Given the description of an element on the screen output the (x, y) to click on. 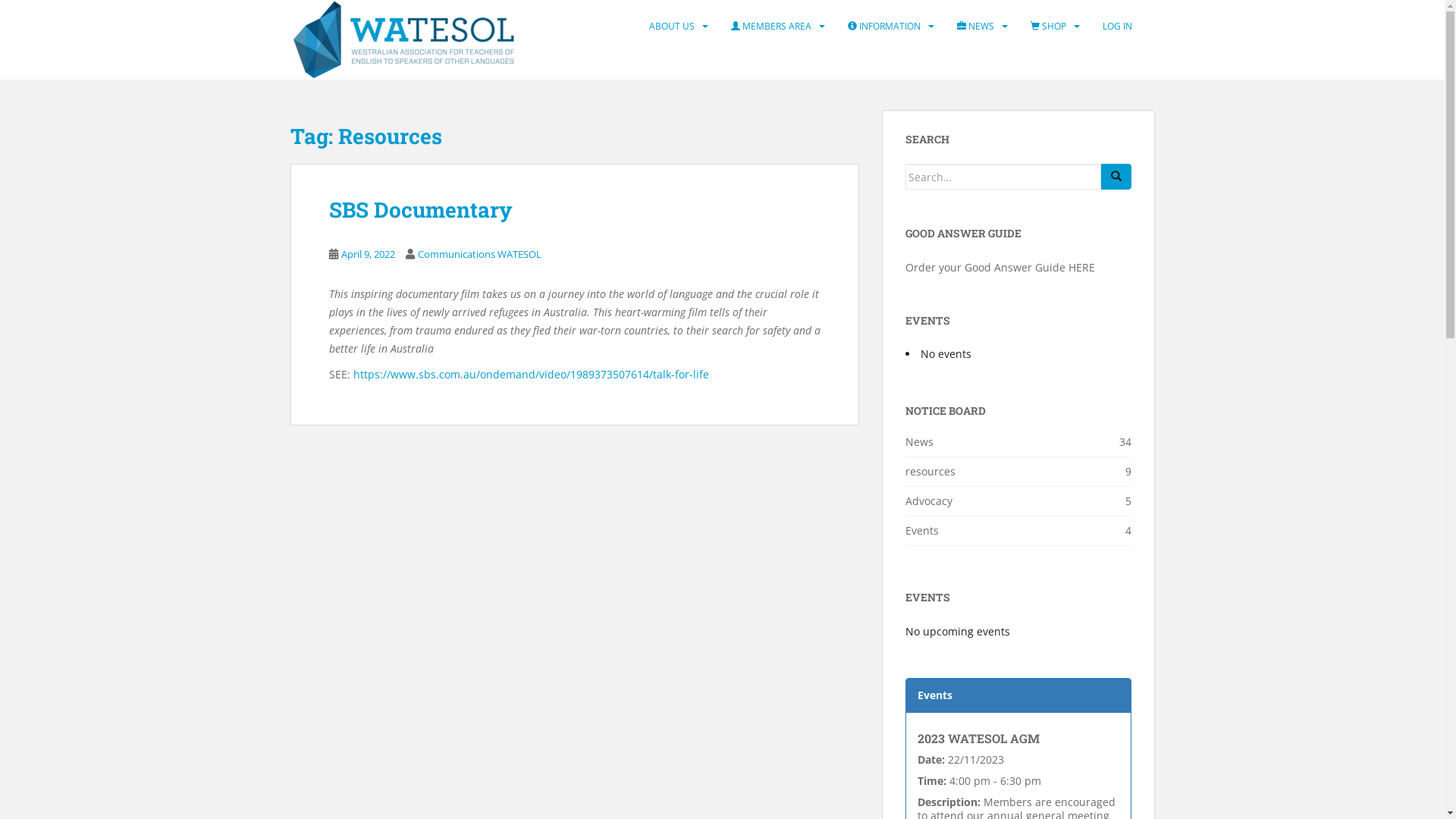
SBS Documentary Element type: text (420, 209)
Advocacy Element type: text (928, 500)
Events Element type: text (921, 530)
Communications WATESOL Element type: text (478, 253)
SHOP Element type: text (1047, 26)
Good Answer Guide HERE Element type: text (1029, 267)
resources Element type: text (930, 471)
Search Element type: text (1116, 176)
2023 WATESOL AGM Element type: text (978, 738)
INFORMATION Element type: text (883, 26)
LOG IN Element type: text (1117, 26)
ABOUT US Element type: text (671, 26)
April 9, 2022 Element type: text (368, 253)
News Element type: text (919, 441)
Search for: Element type: hover (1003, 176)
MEMBERS AREA Element type: text (771, 26)
NEWS Element type: text (975, 26)
